Given the description of an element on the screen output the (x, y) to click on. 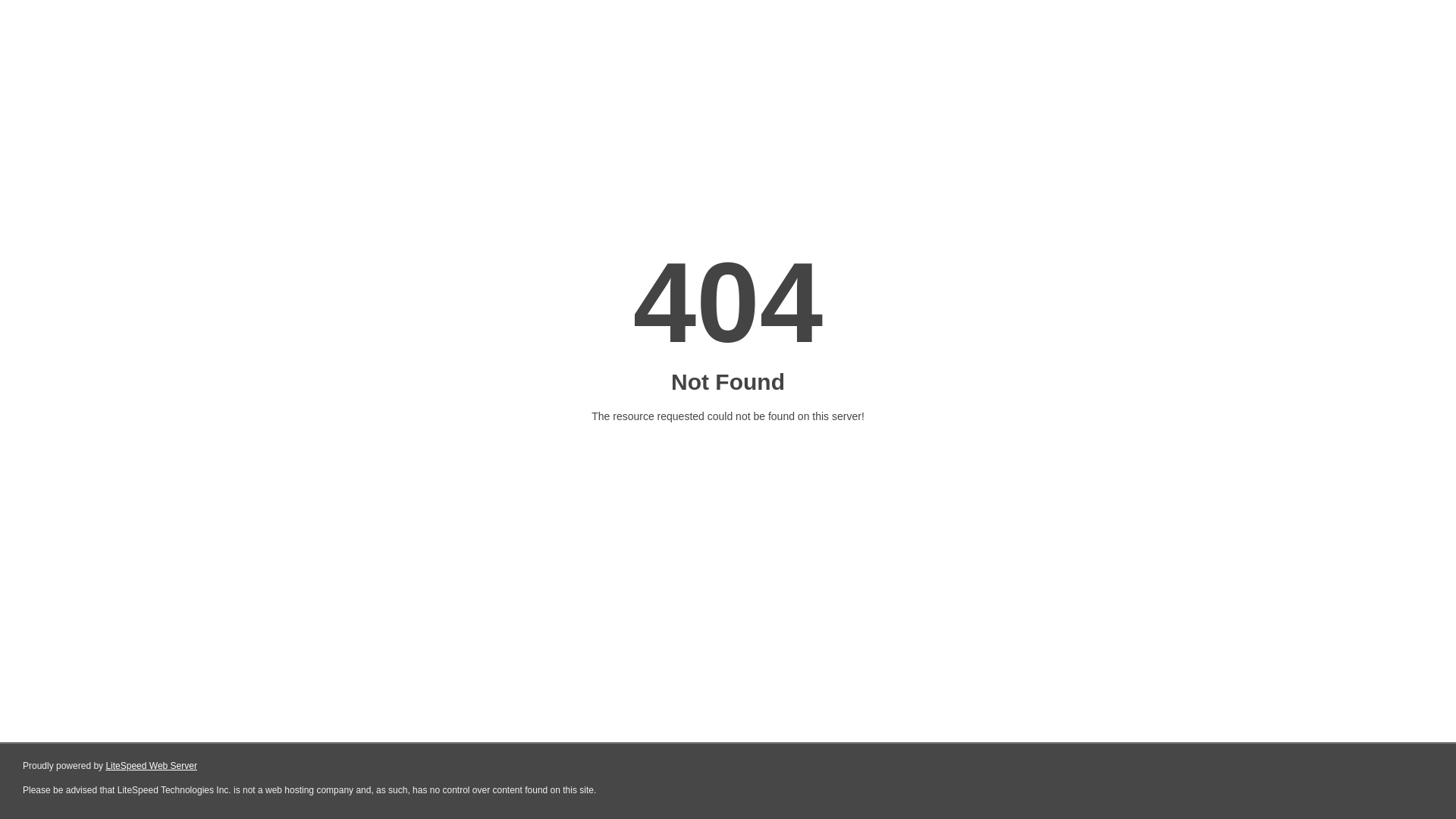
LiteSpeed Web Server Element type: text (151, 765)
